Given the description of an element on the screen output the (x, y) to click on. 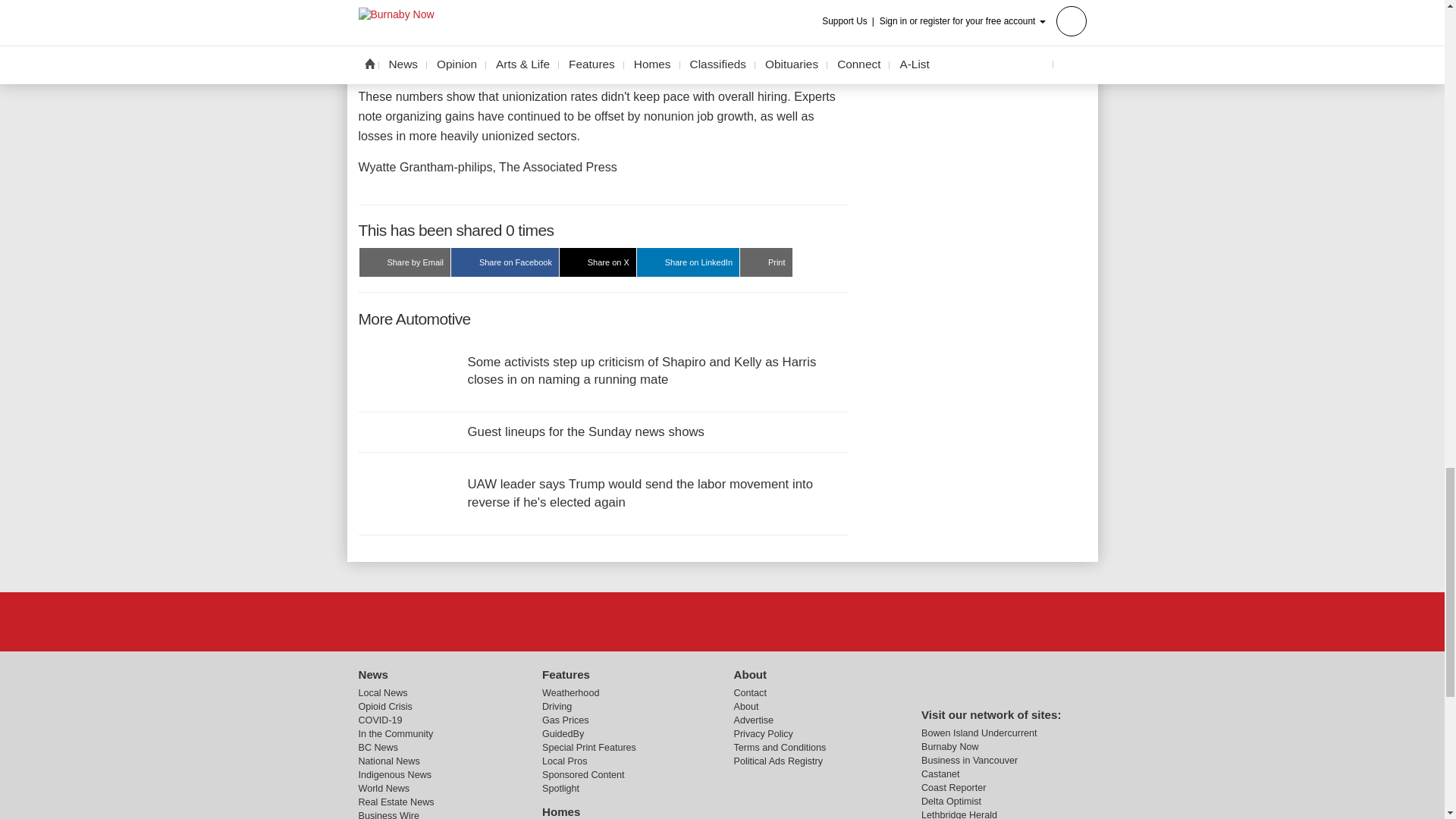
X (721, 621)
Instagram (760, 621)
Facebook (683, 621)
